Given the description of an element on the screen output the (x, y) to click on. 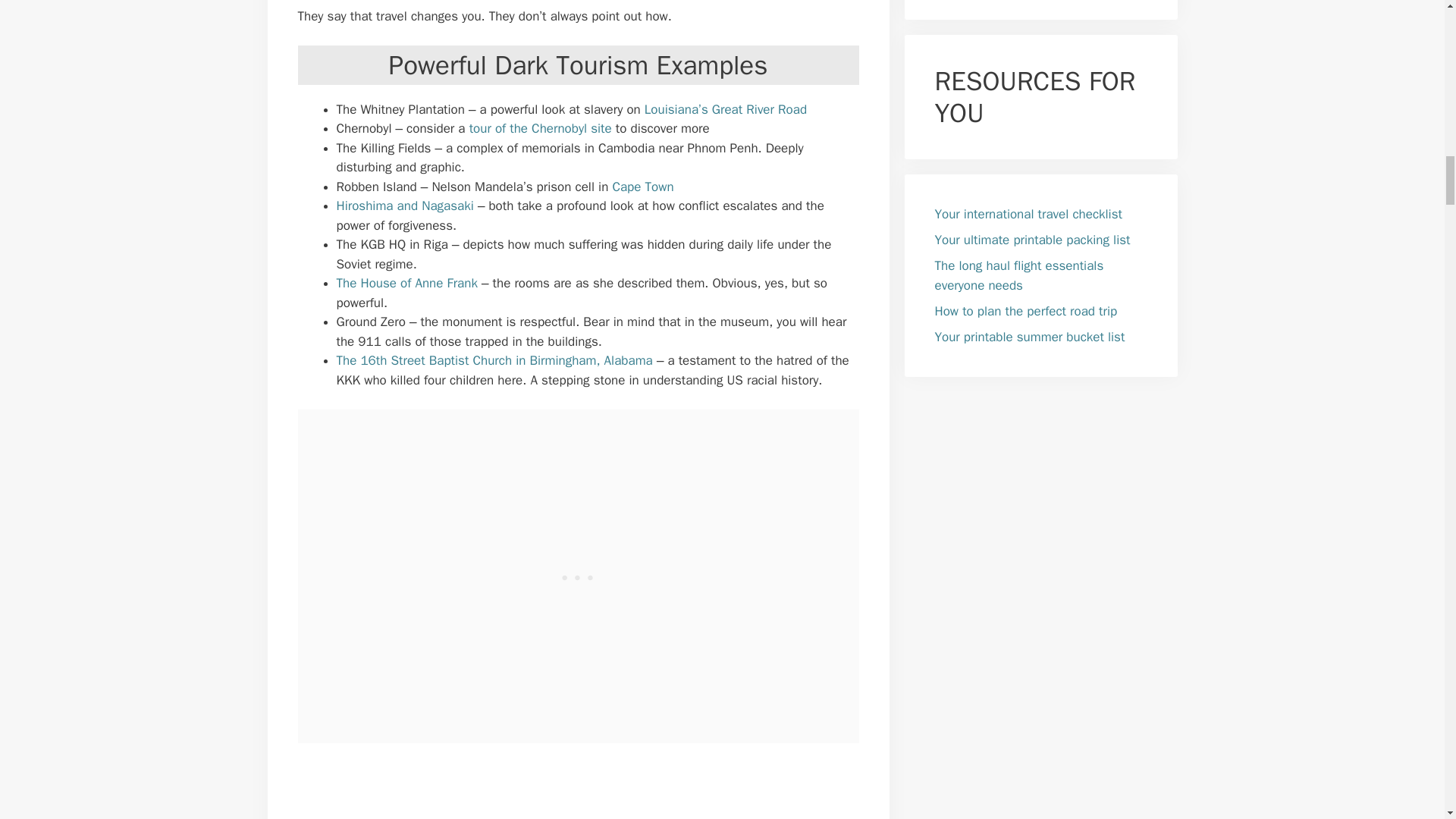
Dark tourism - train tracks to Auschwitz Birkenau (547, 785)
